Given the description of an element on the screen output the (x, y) to click on. 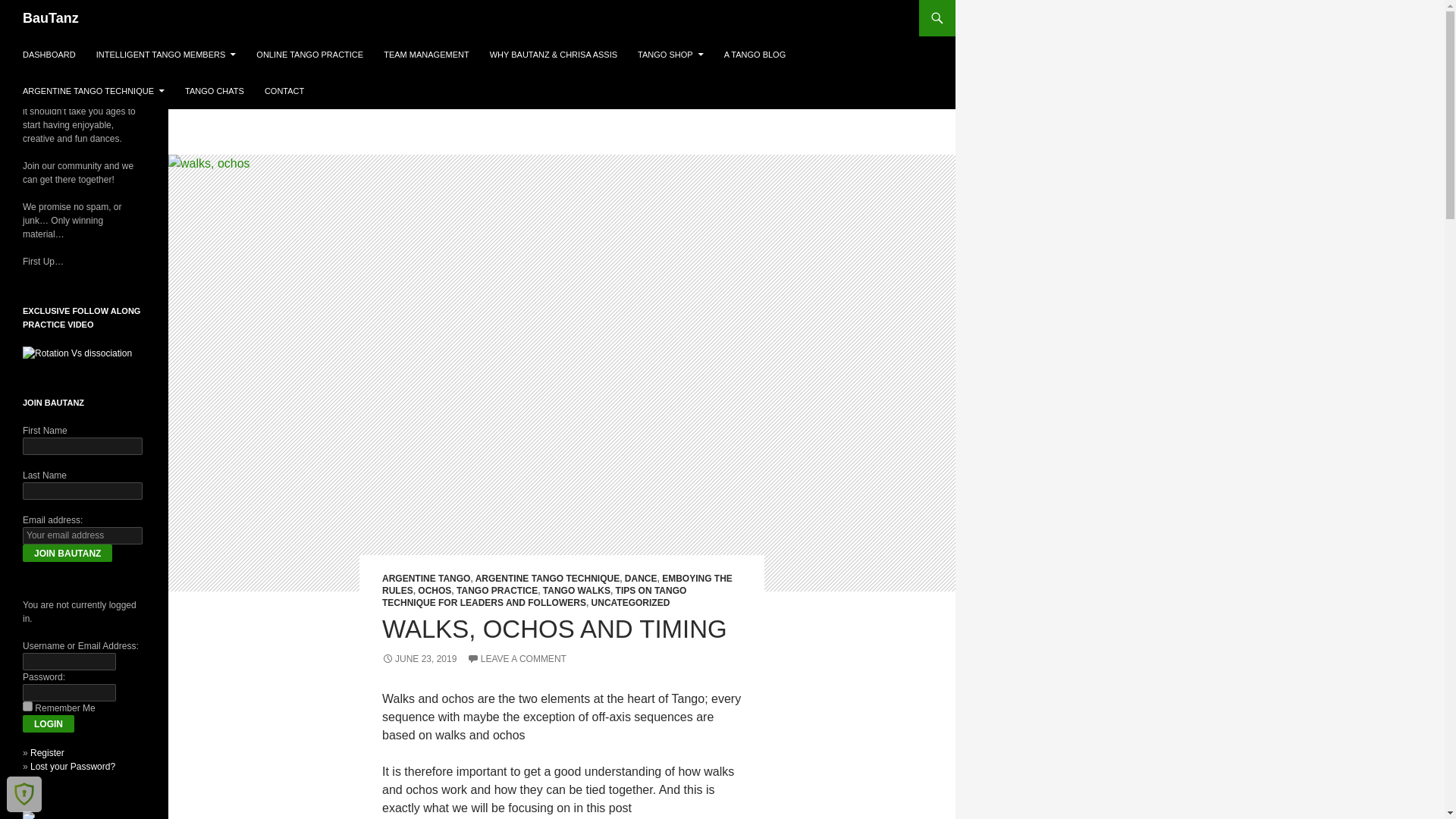
Tango blogs (28, 815)
ARGENTINE TANGO TECHNIQUE (93, 90)
TANGO PRACTICE (497, 590)
Shield Security (23, 793)
INTELLIGENT TANGO MEMBERS (166, 54)
DANCE (641, 578)
OCHOS (434, 590)
TEAM MANAGEMENT (425, 54)
A TANGO BLOG (754, 54)
